Given the description of an element on the screen output the (x, y) to click on. 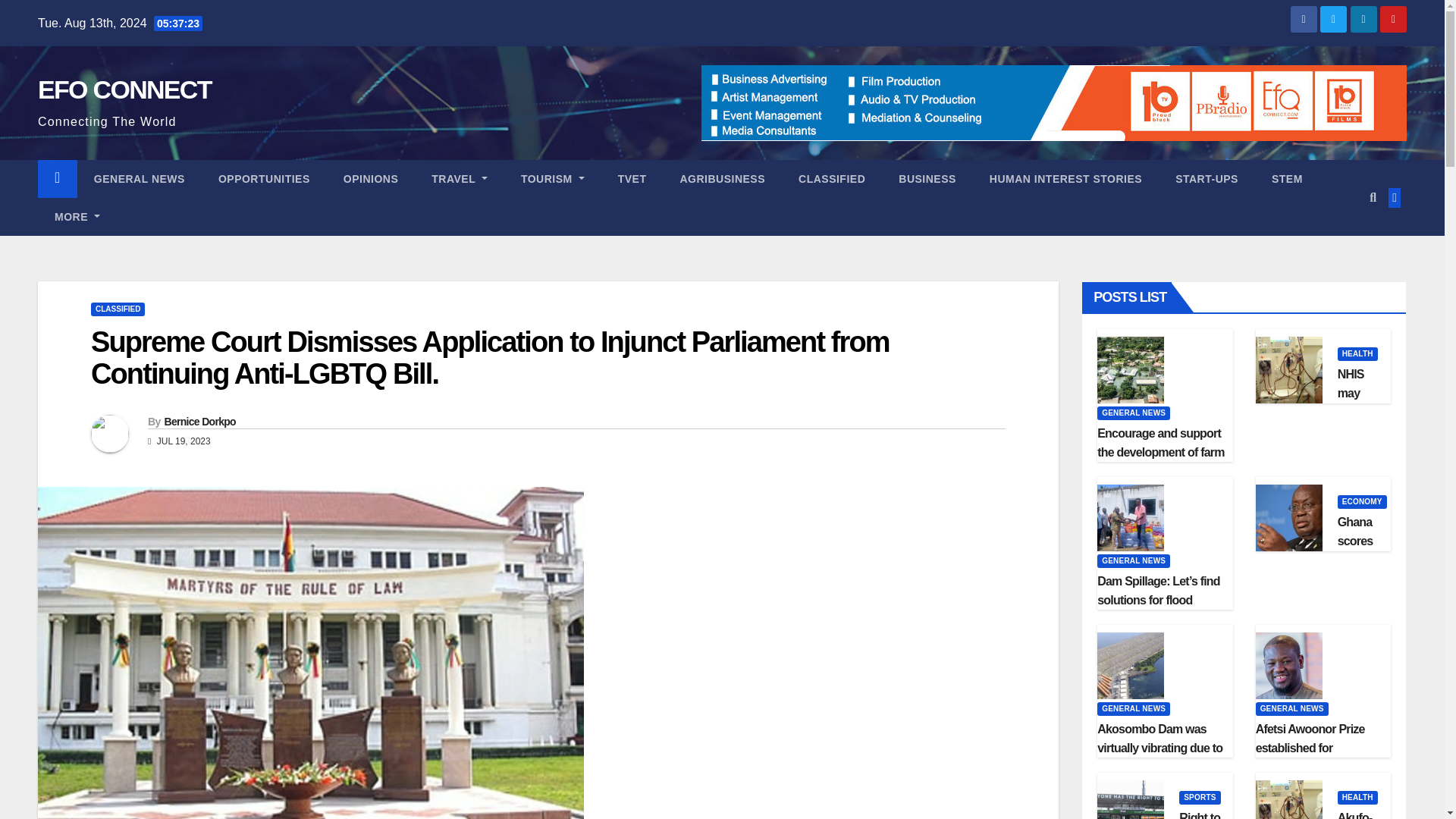
START-UPS (1206, 178)
Tourism (552, 178)
Travel (458, 178)
TOURISM (552, 178)
TVET (632, 178)
STEM (1287, 178)
MORE (76, 216)
EFO CONNECT (124, 89)
Start-ups (1206, 178)
